Given the description of an element on the screen output the (x, y) to click on. 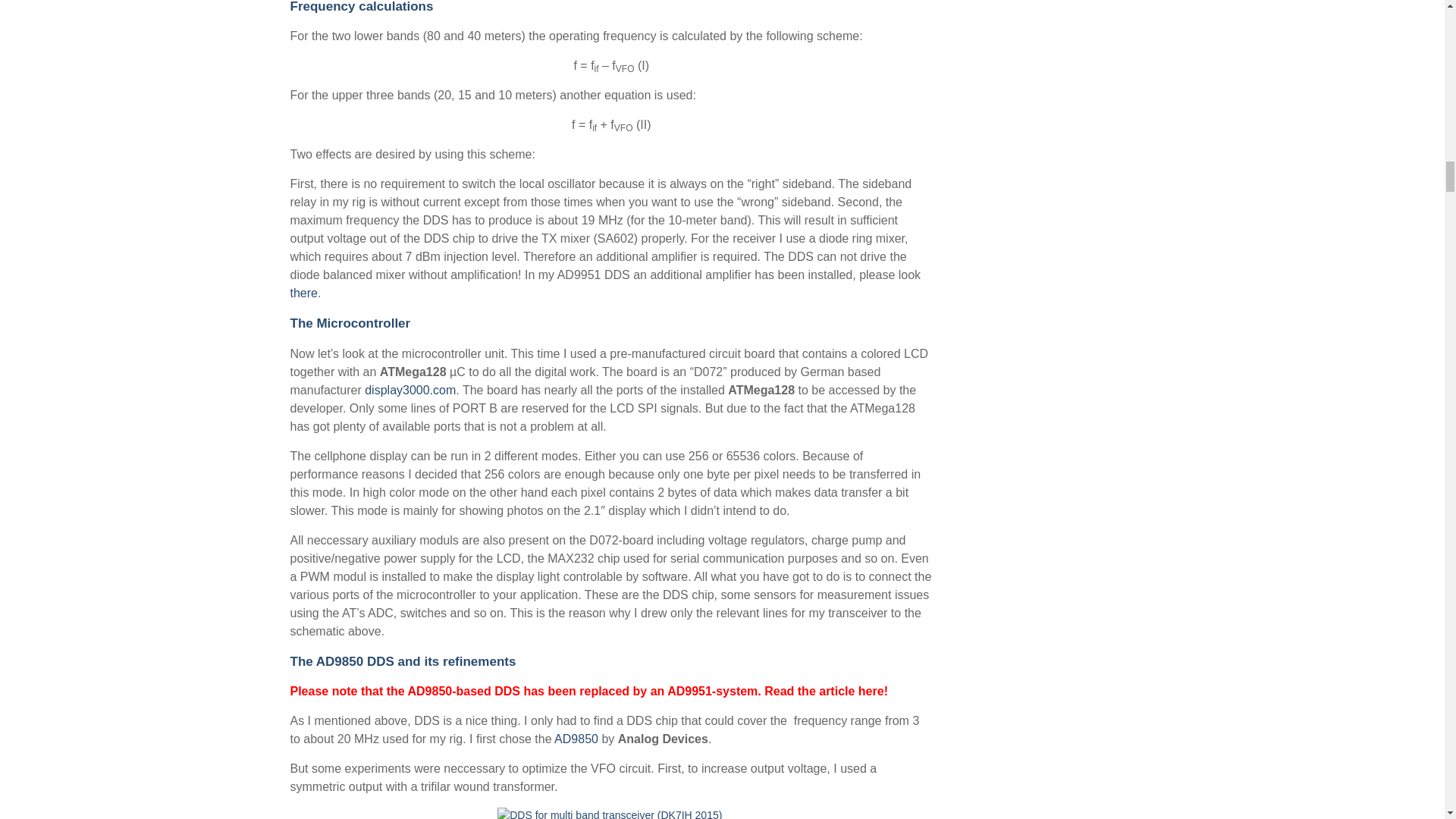
display3000.com (410, 390)
AD9850 (576, 738)
Read the article here (823, 690)
there (303, 292)
